Given the description of an element on the screen output the (x, y) to click on. 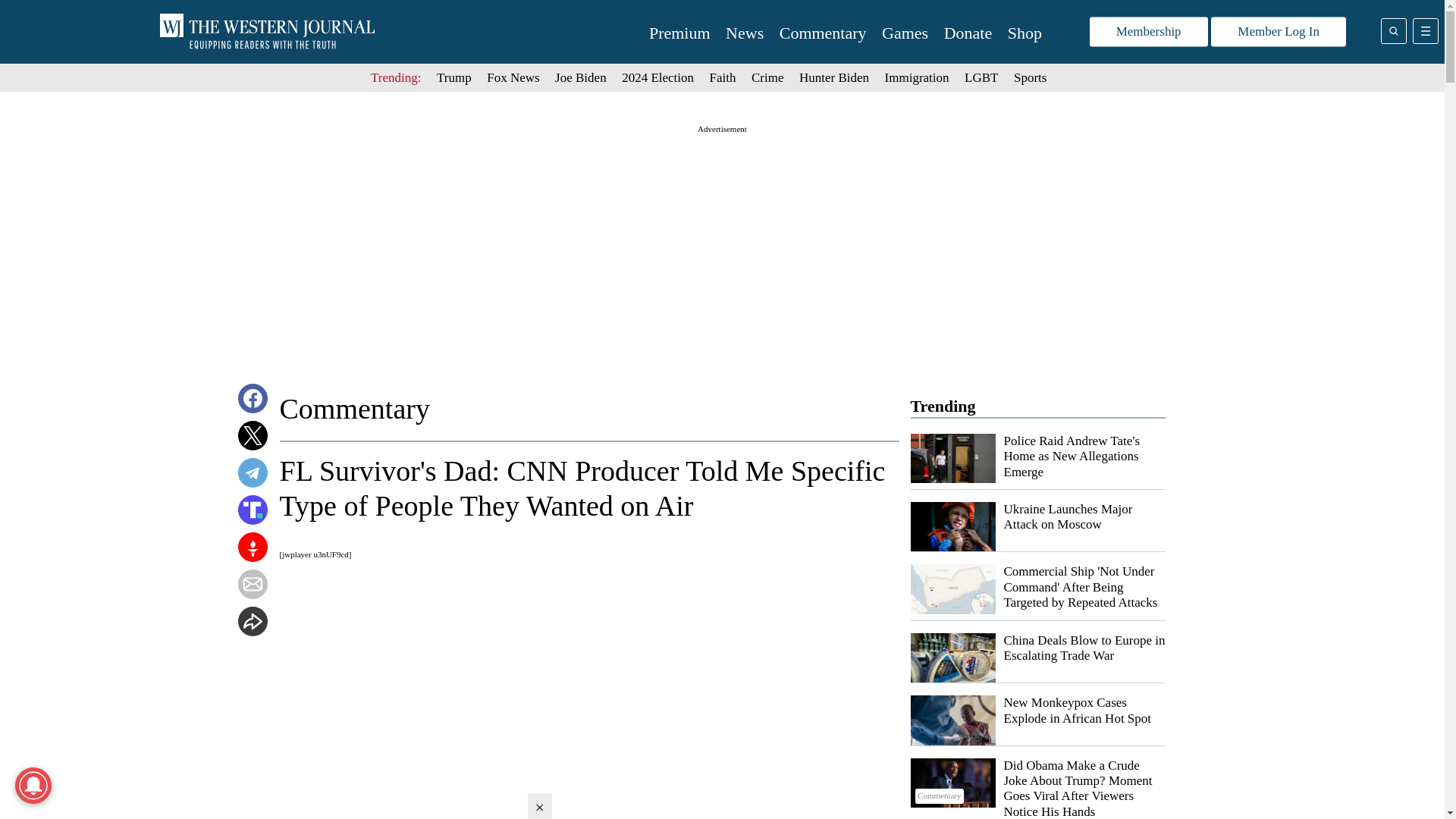
Fox News (512, 77)
Faith (723, 77)
Membership (1148, 31)
Shop (1024, 32)
Crime (767, 77)
China Deals Blow to Europe in Escalating Trade War (1085, 647)
Ukraine Launches Major Attack on Moscow (1068, 516)
Trump (453, 77)
Commentary (822, 32)
